Given the description of an element on the screen output the (x, y) to click on. 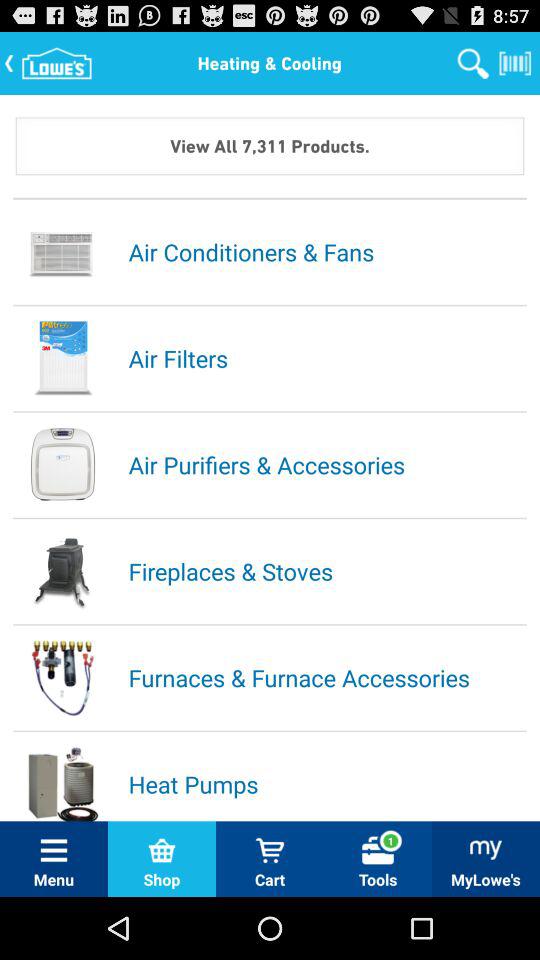
press the item to the right of the heating & cooling icon (473, 62)
